Given the description of an element on the screen output the (x, y) to click on. 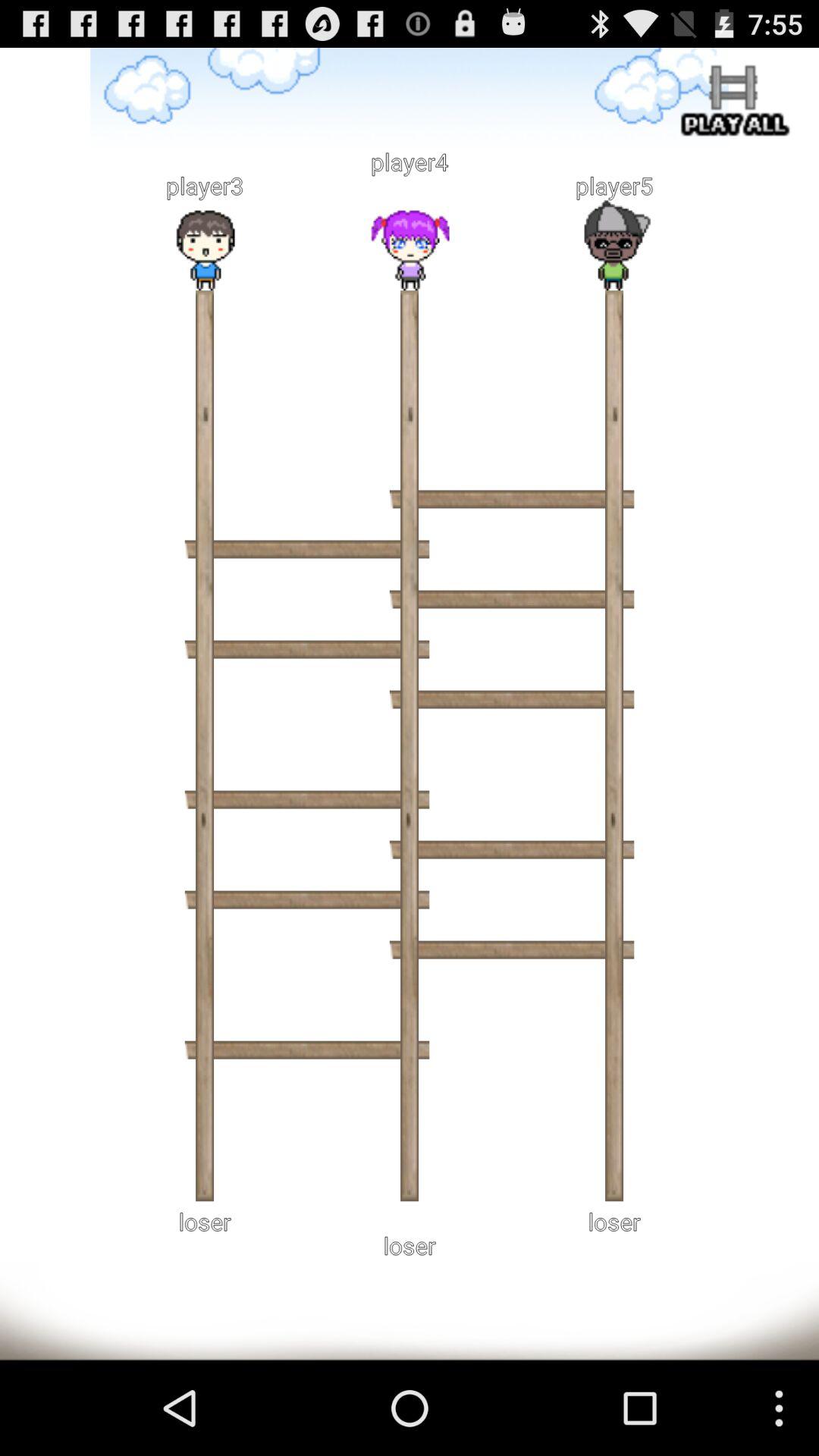
click to play all (732, 103)
